Given the description of an element on the screen output the (x, y) to click on. 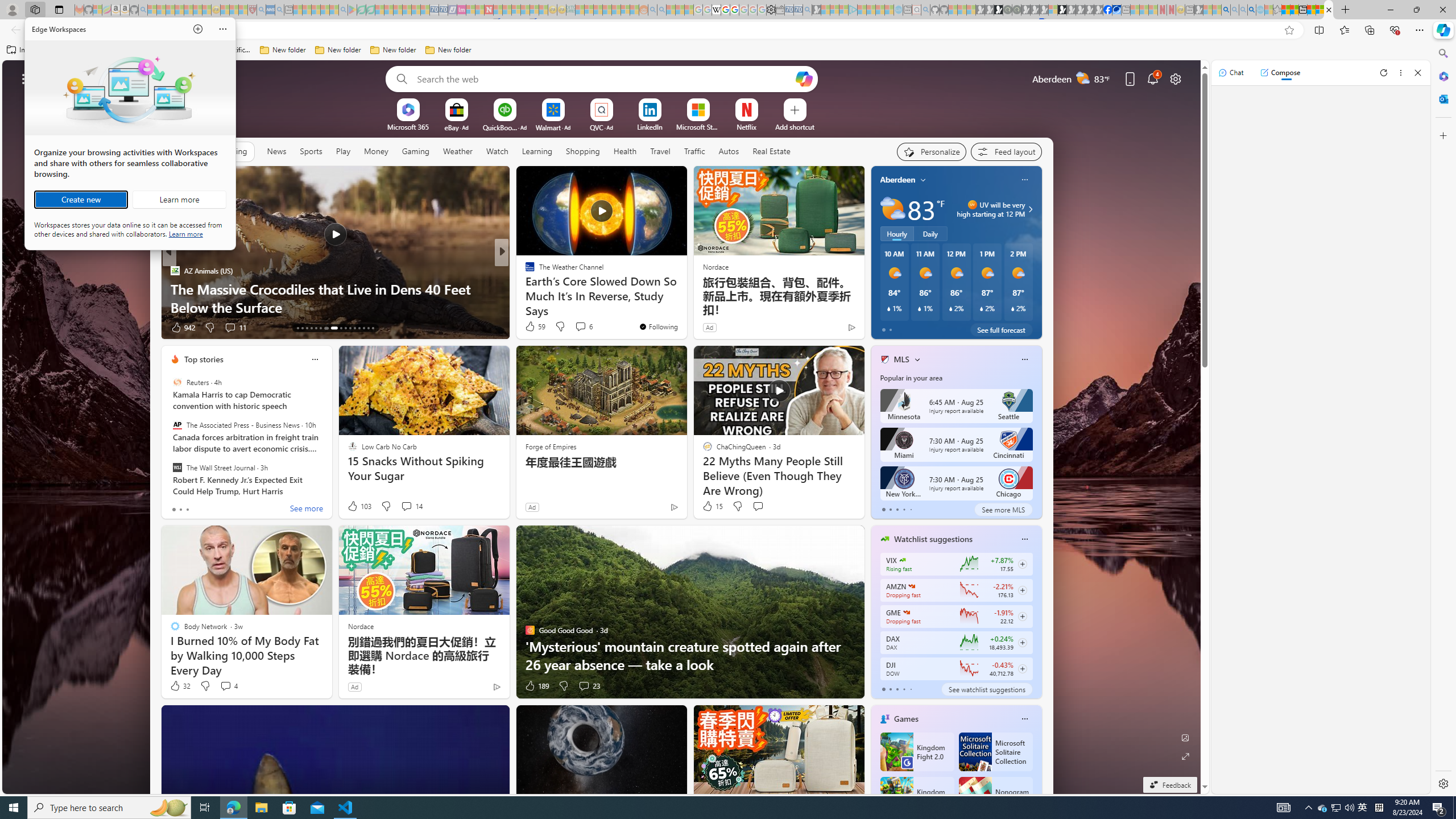
AutomationID: tab-17 (315, 328)
Add a site (793, 126)
The Spicy Chefs (524, 270)
Pets - MSN - Sleeping (324, 9)
Hourly (896, 233)
View comments 5 Comment (580, 327)
